Given the description of an element on the screen output the (x, y) to click on. 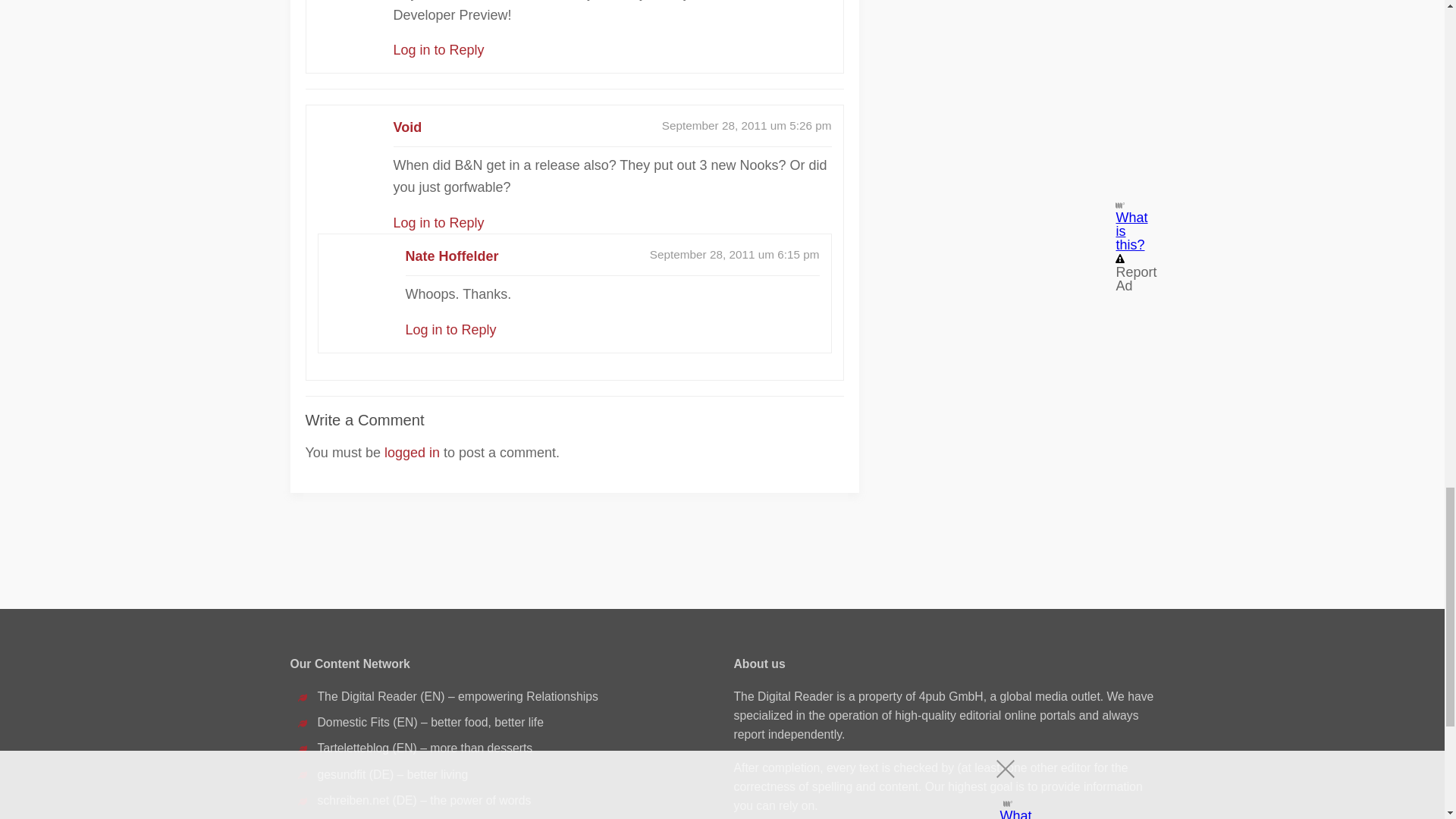
Log in to Reply (438, 49)
logged in (411, 452)
Log in to Reply (450, 329)
Log in to Reply (438, 222)
